Given the description of an element on the screen output the (x, y) to click on. 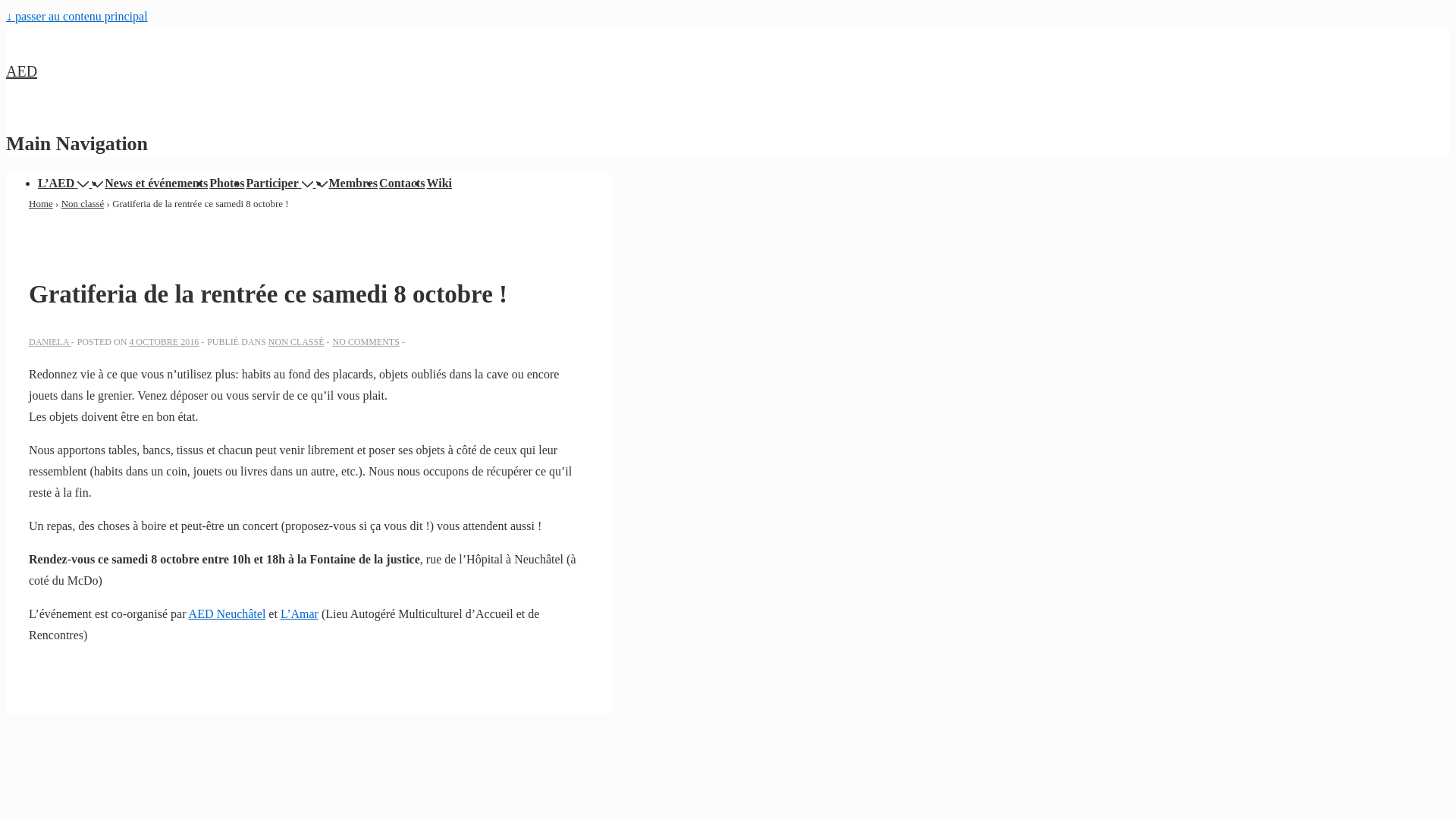
Participer Element type: text (280, 182)
Contacts Element type: text (401, 182)
NO COMMENTS Element type: text (365, 341)
Membres Element type: text (353, 182)
Home Element type: text (40, 203)
4 OCTOBRE 2016 Element type: text (163, 341)
DANIELA Element type: text (49, 341)
Wiki Element type: text (439, 182)
Photos Element type: text (226, 182)
AED Element type: text (21, 70)
